Given the description of an element on the screen output the (x, y) to click on. 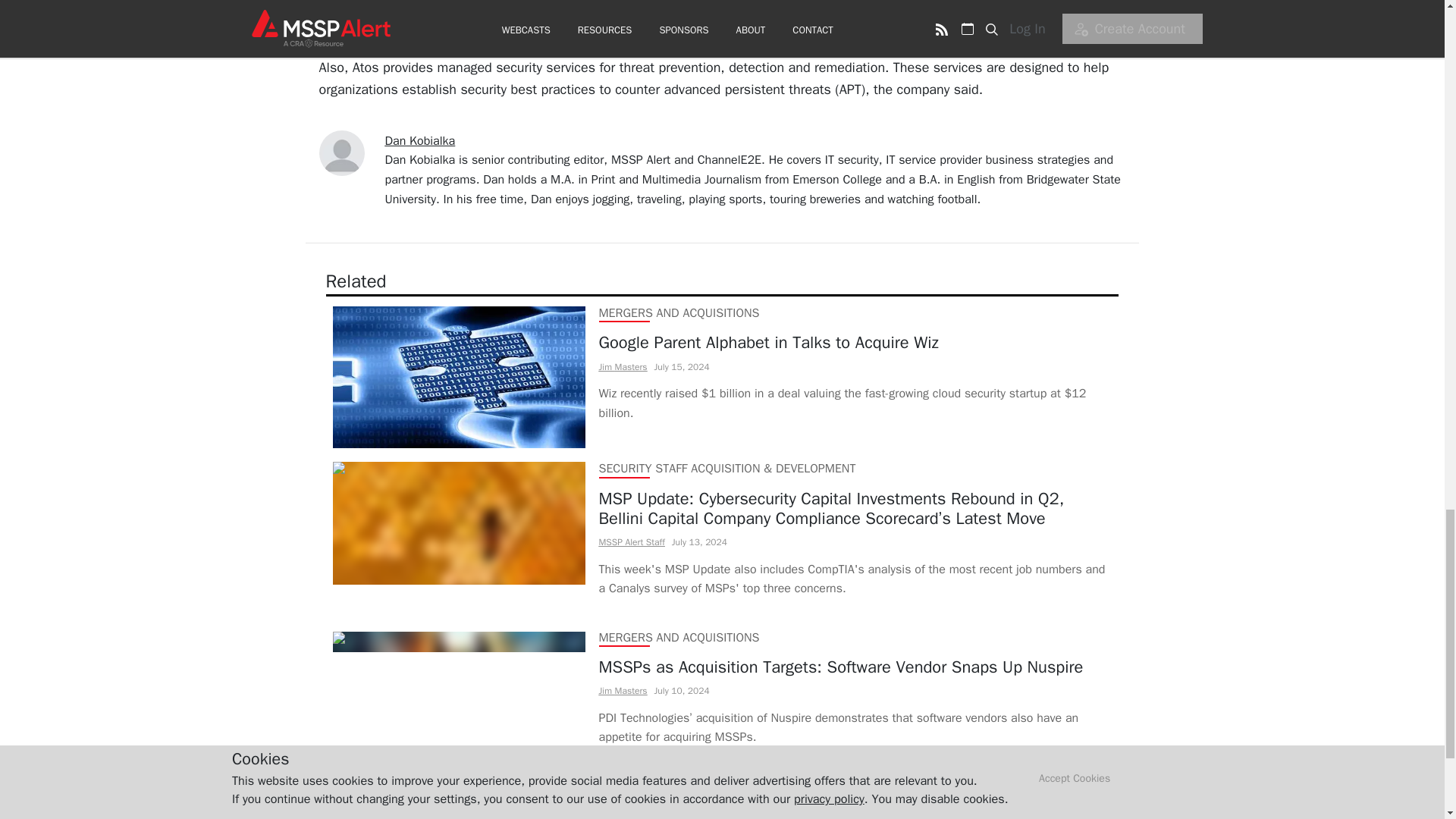
MERGERS AND ACQUISITIONS (679, 637)
Jim Masters (622, 367)
Jim Masters (622, 690)
Google Parent Alphabet in Talks to Acquire Wiz (855, 342)
MSSP Alert Staff (631, 541)
Dan Kobialka (420, 140)
MERGERS AND ACQUISITIONS (679, 313)
